Given the description of an element on the screen output the (x, y) to click on. 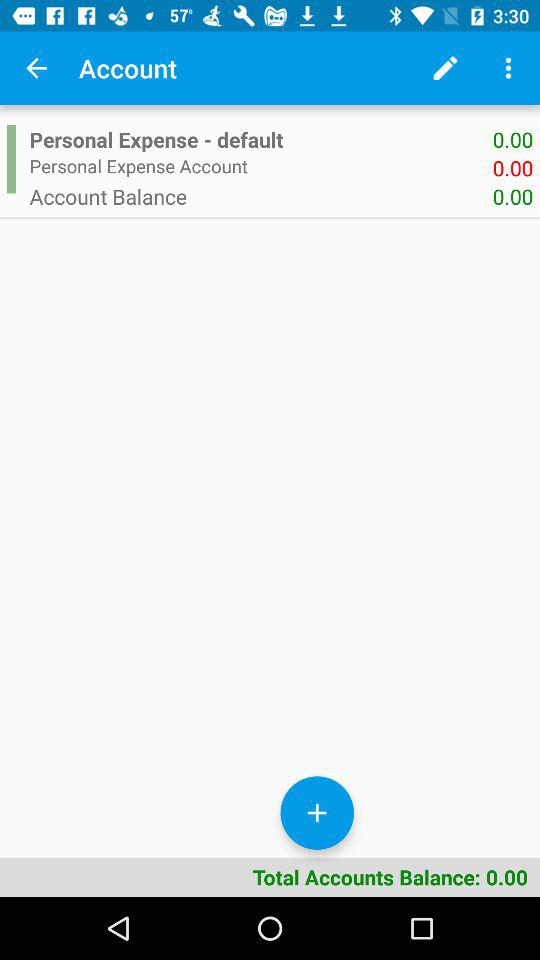
click the icon above the total accounts balance icon (11, 159)
